Given the description of an element on the screen output the (x, y) to click on. 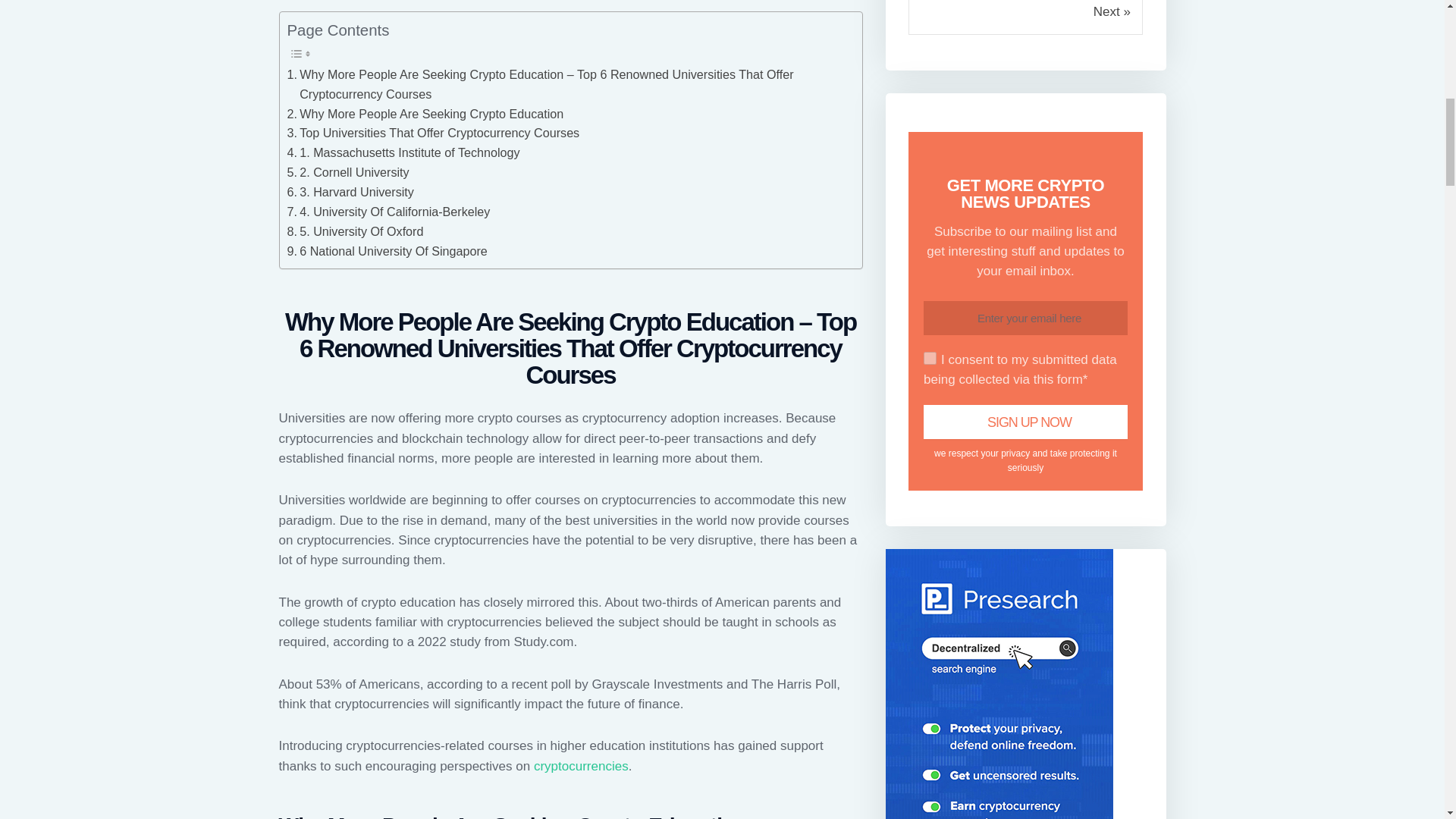
6 National University Of Singapore (386, 251)
Top Universities That Offer Cryptocurrency Courses (432, 133)
3. Harvard University (349, 192)
Sign Up Now (1024, 421)
Top Universities That Offer Cryptocurrency Courses (432, 133)
4. University Of California-Berkeley (387, 211)
5. University Of Oxford (354, 231)
2. Cornell University (347, 172)
on (929, 358)
Why More People Are Seeking Crypto Education (424, 114)
6 National University Of Singapore (386, 251)
2. Cornell University (347, 172)
Why More People Are Seeking Crypto Education (424, 114)
5. University Of Oxford (354, 231)
3. Harvard University (349, 192)
